Given the description of an element on the screen output the (x, y) to click on. 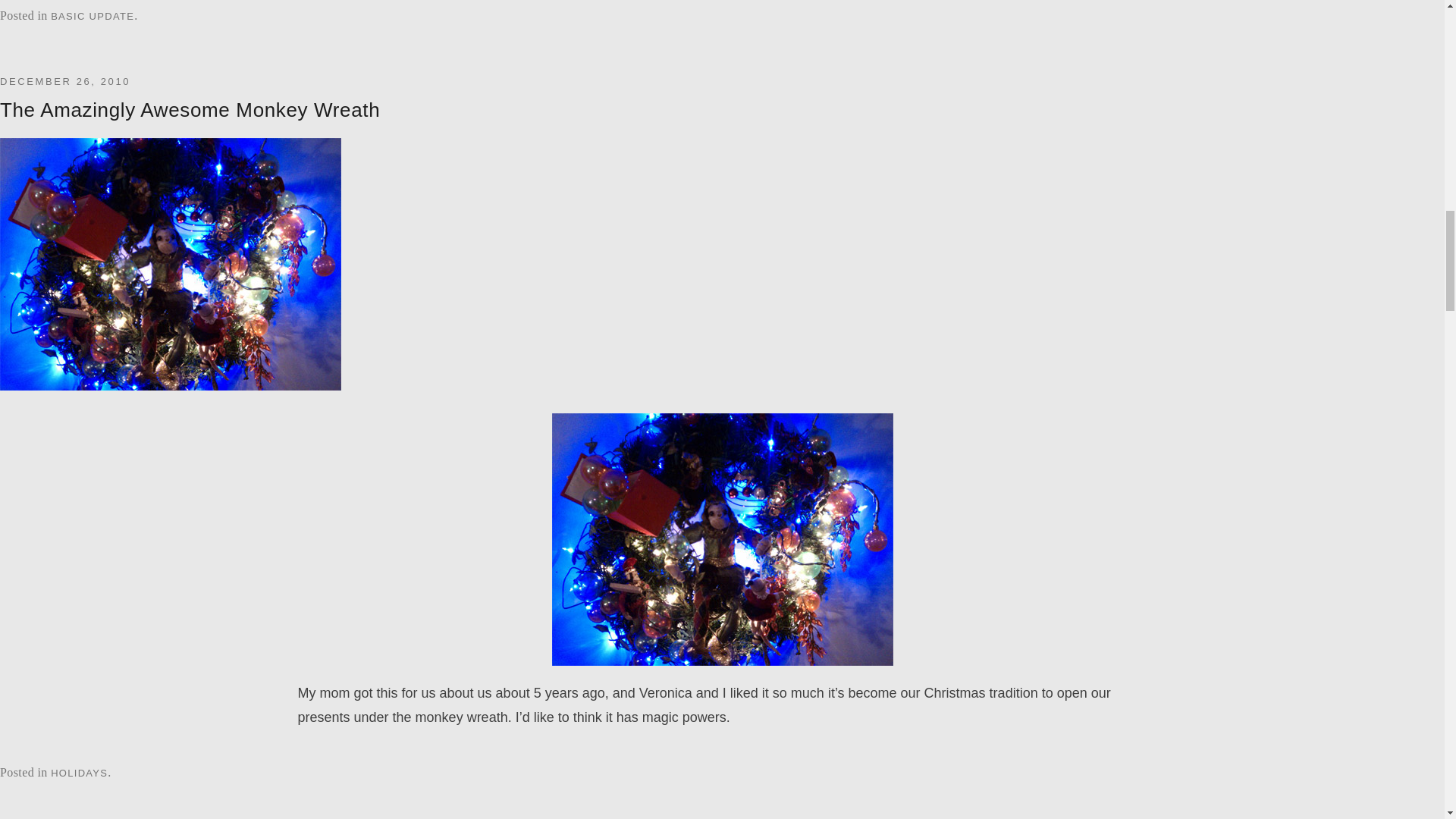
BASIC UPDATE (91, 16)
HOLIDAYS (78, 772)
The Amazingly Awesome Monkey Wreath (190, 109)
